Given the description of an element on the screen output the (x, y) to click on. 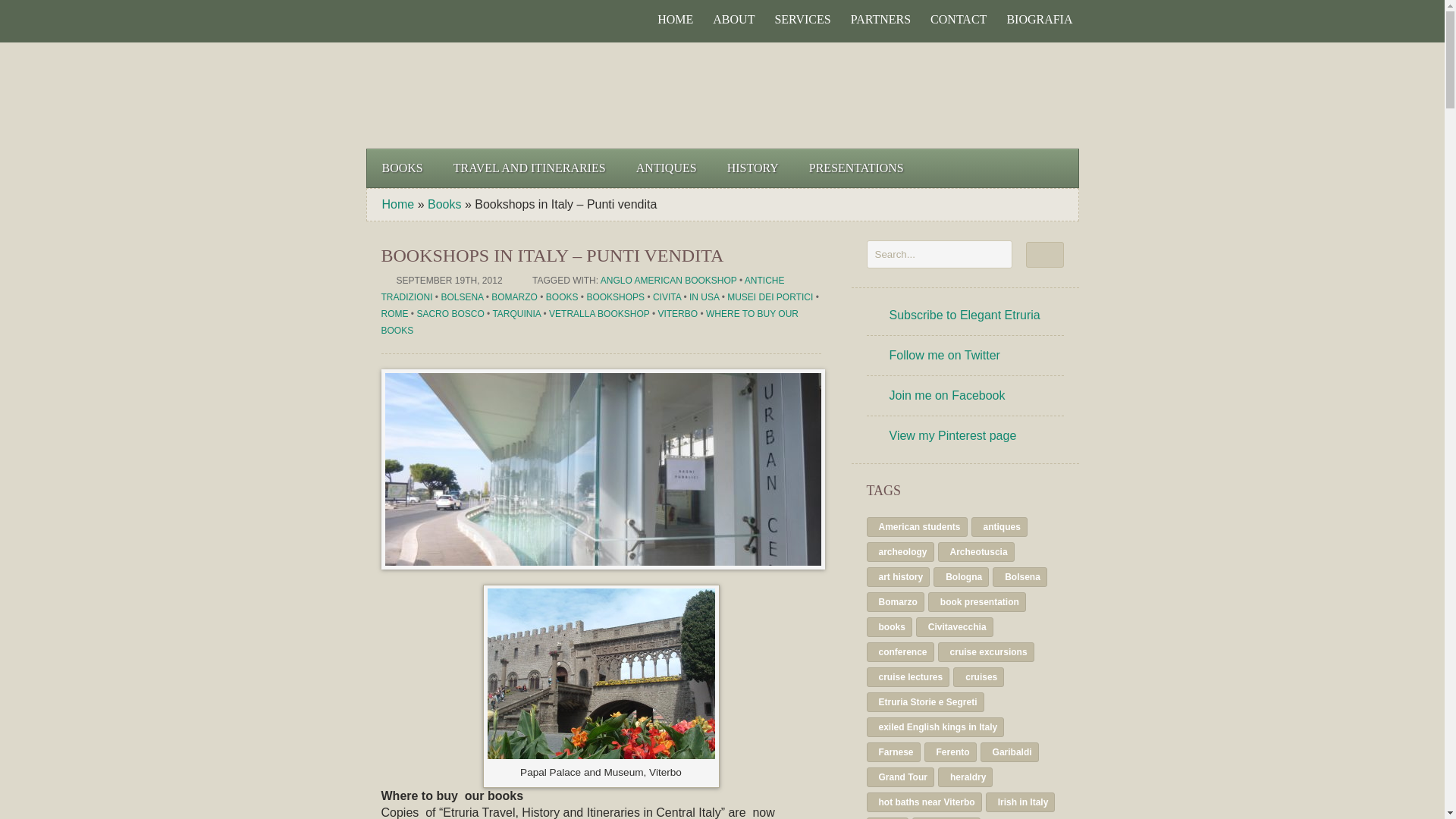
BOOKS (402, 168)
ANTIQUES (666, 168)
SACRO BOSCO (449, 313)
PRESENTATIONS (855, 168)
MUSEI DEI PORTICI (769, 296)
Books (444, 204)
BOMARZO (514, 296)
BOLSENA (462, 296)
VITERBO (677, 313)
ANGLO AMERICAN BOOKSHOP (667, 280)
